Given the description of an element on the screen output the (x, y) to click on. 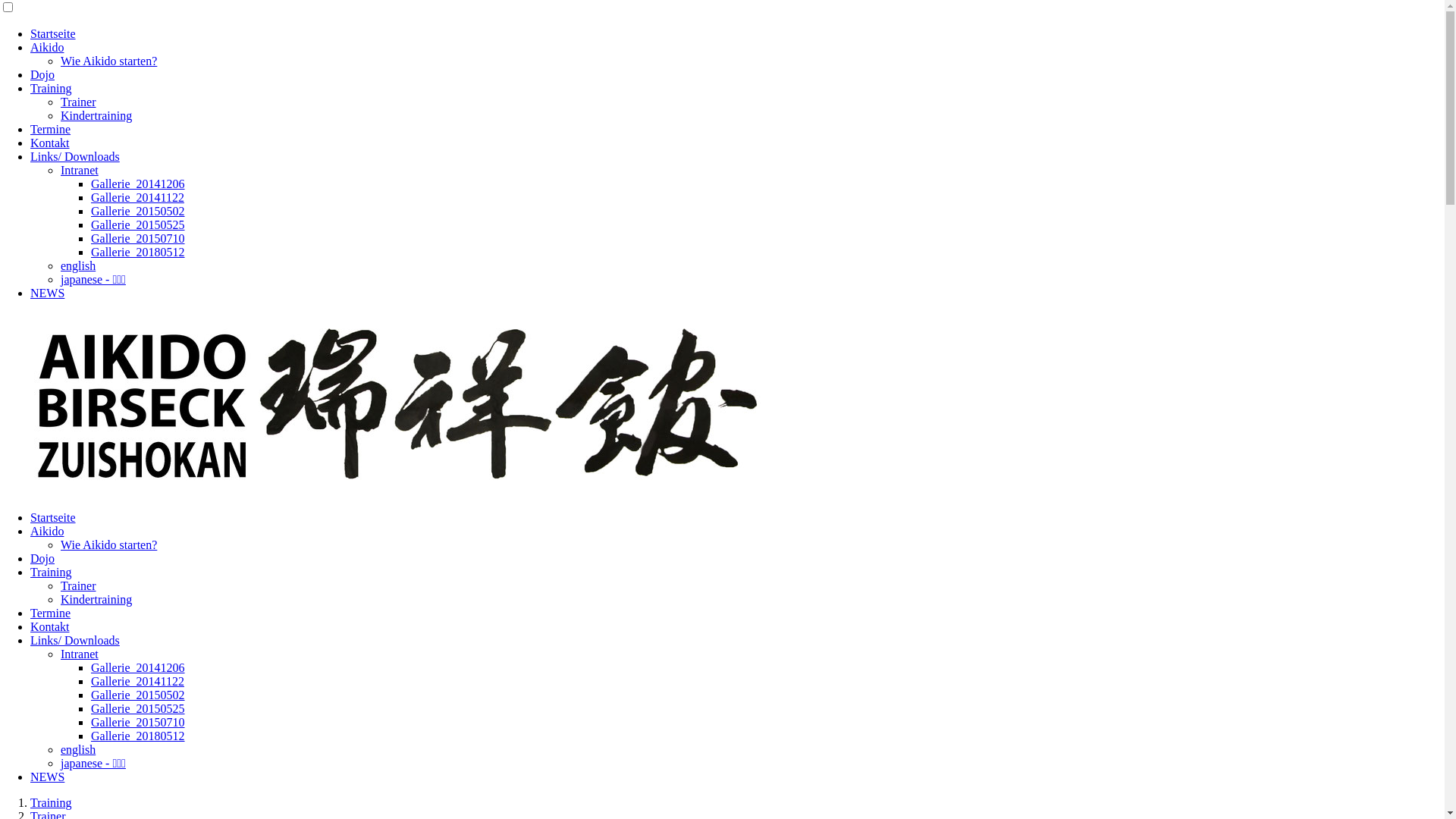
Gallerie_20180512 Element type: text (138, 735)
Training Element type: text (51, 802)
Gallerie_20141122 Element type: text (137, 197)
Gallerie_20141122 Element type: text (137, 680)
Training Element type: text (51, 571)
Gallerie_20141206 Element type: text (138, 667)
Trainer Element type: text (78, 585)
Kontakt Element type: text (49, 626)
Dojo Element type: text (42, 558)
Wie Aikido starten? Element type: text (108, 544)
Links/ Downloads Element type: text (74, 156)
NEWS Element type: text (47, 776)
english Element type: text (77, 749)
Dojo Element type: text (42, 74)
Aikido Element type: text (46, 46)
Gallerie_20150710 Element type: text (138, 238)
Termine Element type: text (50, 612)
Gallerie_20150502 Element type: text (138, 210)
Aikido Element type: text (46, 530)
Termine Element type: text (50, 128)
Gallerie_20150525 Element type: text (138, 224)
Intranet Element type: text (79, 169)
Gallerie_20150502 Element type: text (138, 694)
english Element type: text (77, 265)
NEWS Element type: text (47, 292)
Gallerie_20150525 Element type: text (138, 708)
Training Element type: text (51, 87)
Gallerie_20141206 Element type: text (138, 183)
Kindertraining Element type: text (95, 115)
Gallerie_20150710 Element type: text (138, 721)
Links/ Downloads Element type: text (74, 639)
Gallerie_20180512 Element type: text (138, 251)
Startseite Element type: text (52, 33)
Intranet Element type: text (79, 653)
Wie Aikido starten? Element type: text (108, 60)
Trainer Element type: text (78, 101)
Startseite Element type: text (52, 517)
Kindertraining Element type: text (95, 599)
Kontakt Element type: text (49, 142)
